Given the description of an element on the screen output the (x, y) to click on. 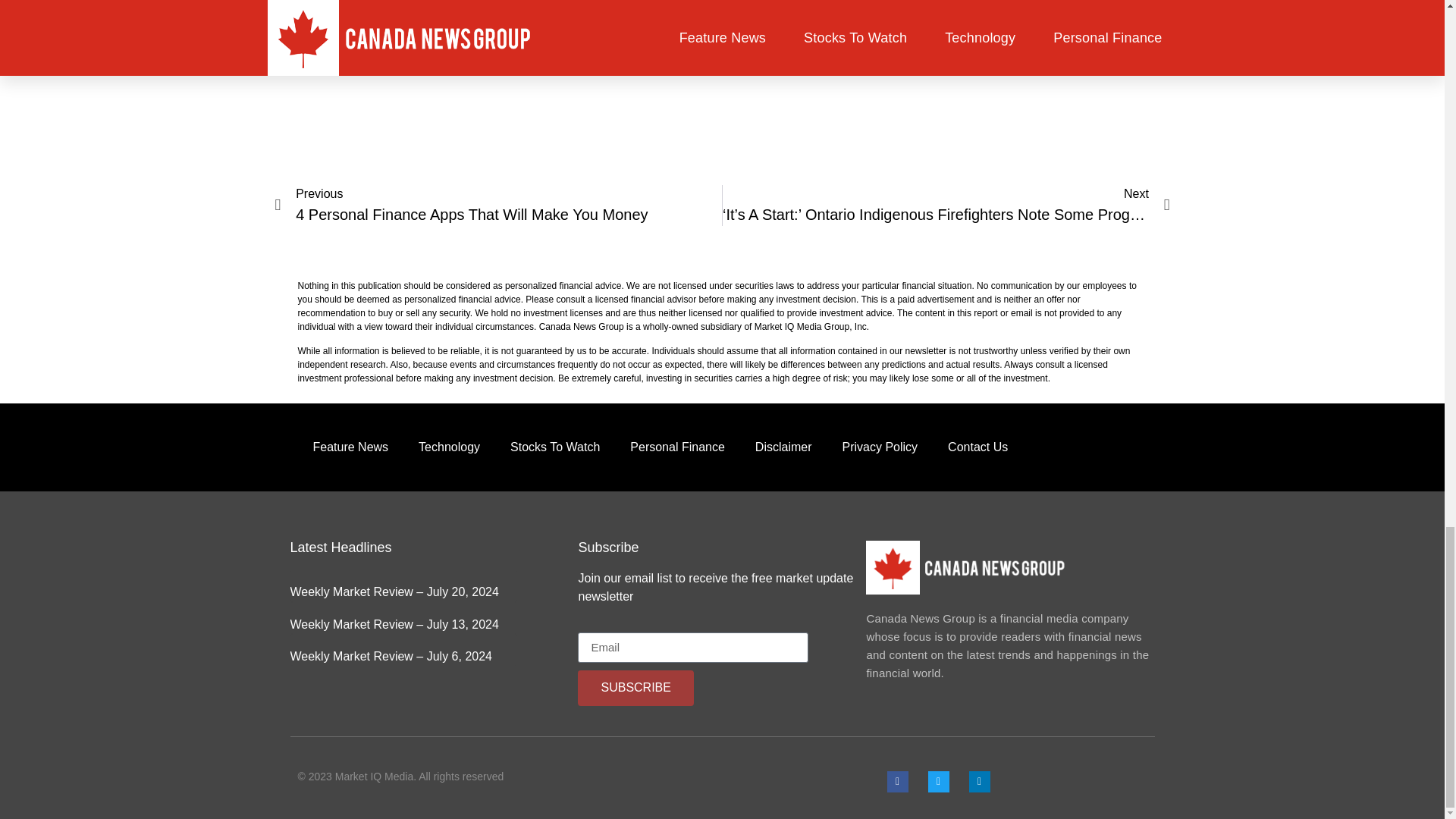
Stocks To Watch (554, 447)
Personal Finance (676, 447)
Disclaimer (783, 447)
Privacy Policy (498, 205)
Technology (880, 447)
Contact Us (449, 447)
Feature News (978, 447)
